Given the description of an element on the screen output the (x, y) to click on. 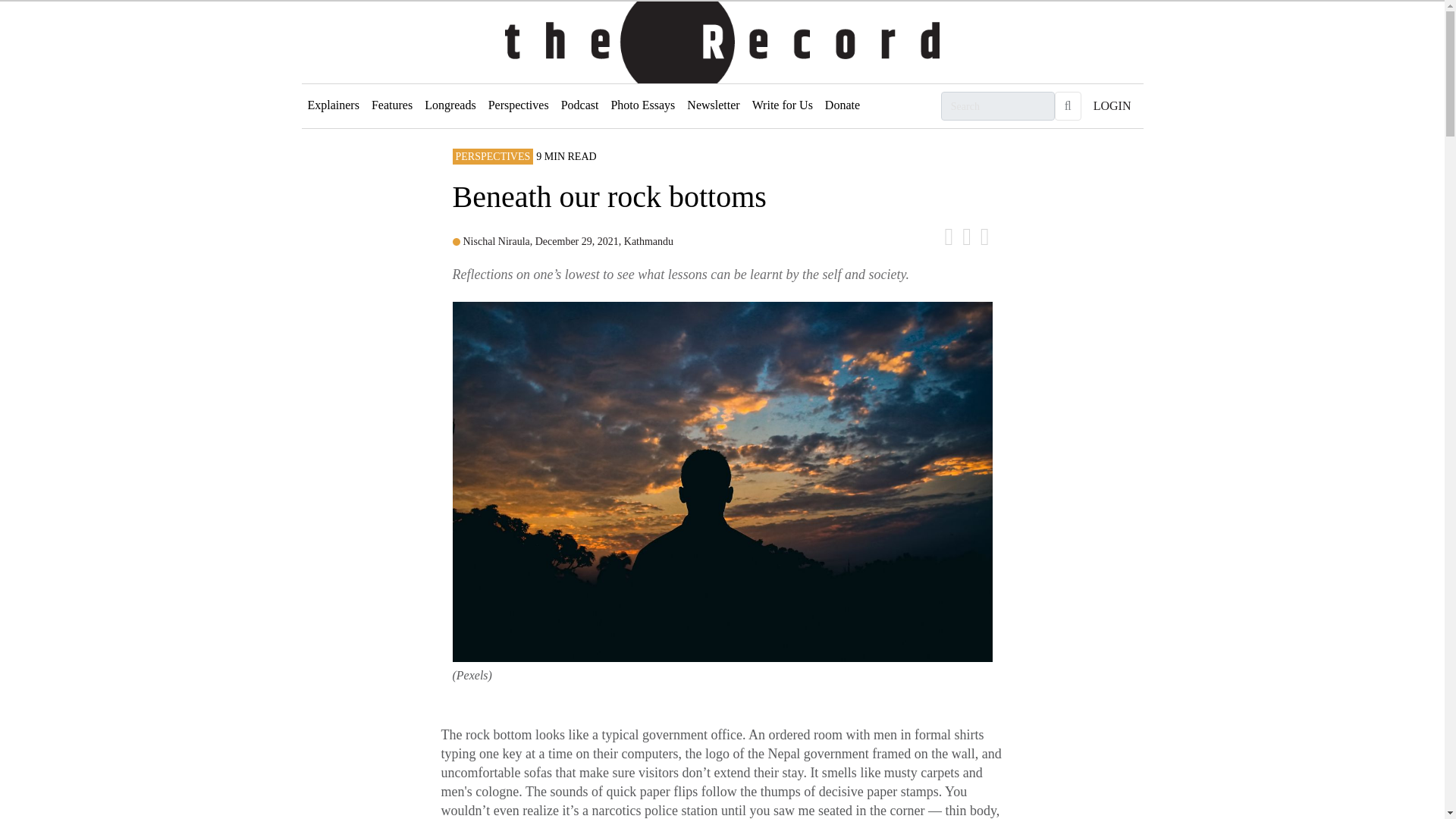
Features (392, 106)
Donate (842, 106)
Longreads (450, 106)
Podcast (579, 106)
Write for Us (781, 106)
Photo Essays (642, 106)
Perspectives (517, 106)
Newsletter (713, 106)
Explainers (333, 106)
LOGIN (1111, 105)
